Given the description of an element on the screen output the (x, y) to click on. 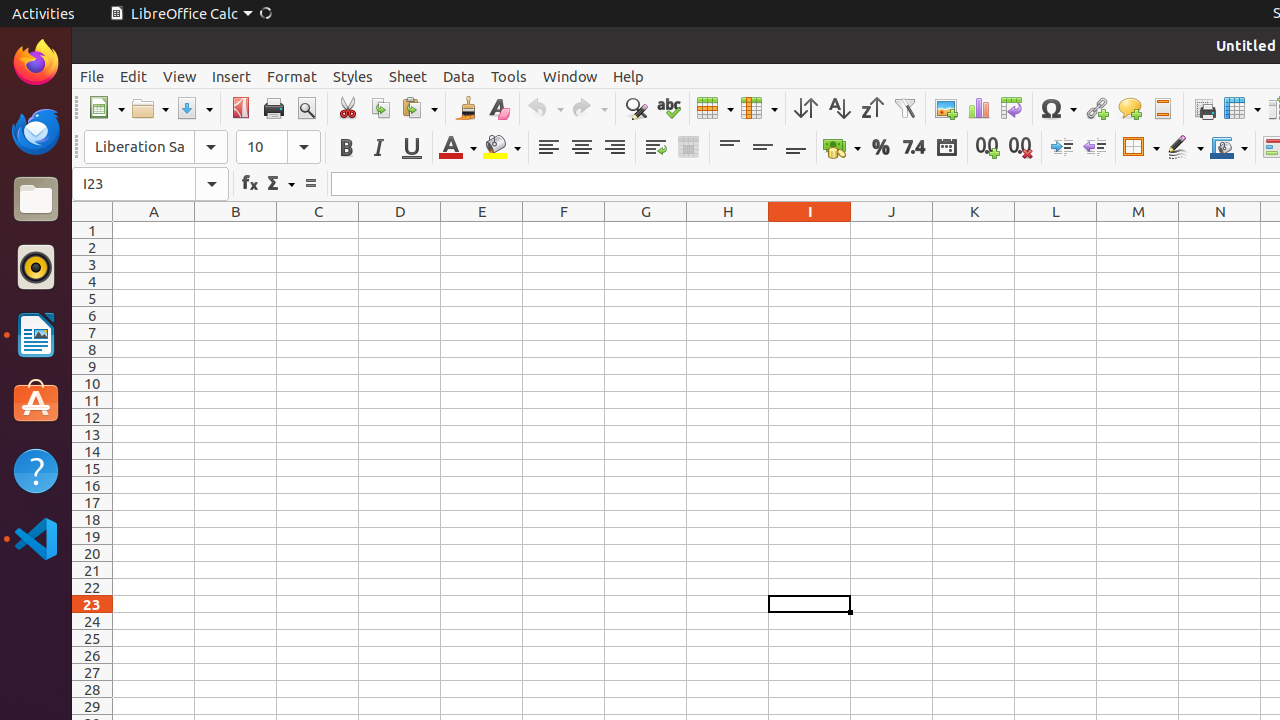
Activities Element type: label (43, 13)
Clear Element type: push-button (498, 108)
G1 Element type: table-cell (646, 230)
Name Box Element type: text (133, 184)
K1 Element type: table-cell (974, 230)
